Given the description of an element on the screen output the (x, y) to click on. 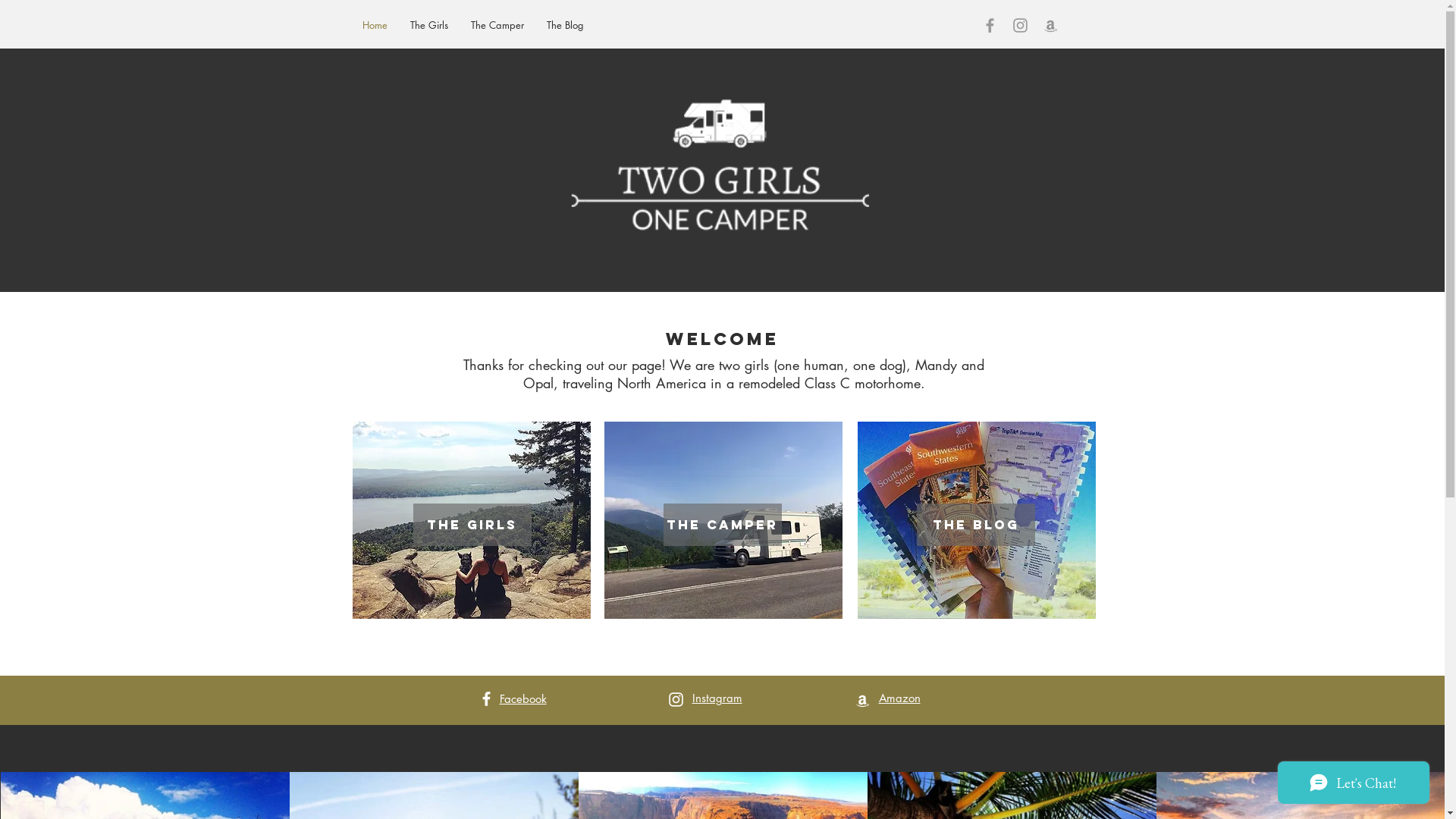
The Girls Element type: text (428, 25)
Facebook Element type: text (522, 698)
The Camper Element type: text (721, 524)
The Camper Element type: text (497, 25)
Instagram Element type: text (716, 697)
Home Element type: text (374, 25)
The Girls Element type: text (471, 524)
Amazon Element type: text (898, 697)
The Blog Element type: text (975, 524)
The Blog Element type: text (565, 25)
